Given the description of an element on the screen output the (x, y) to click on. 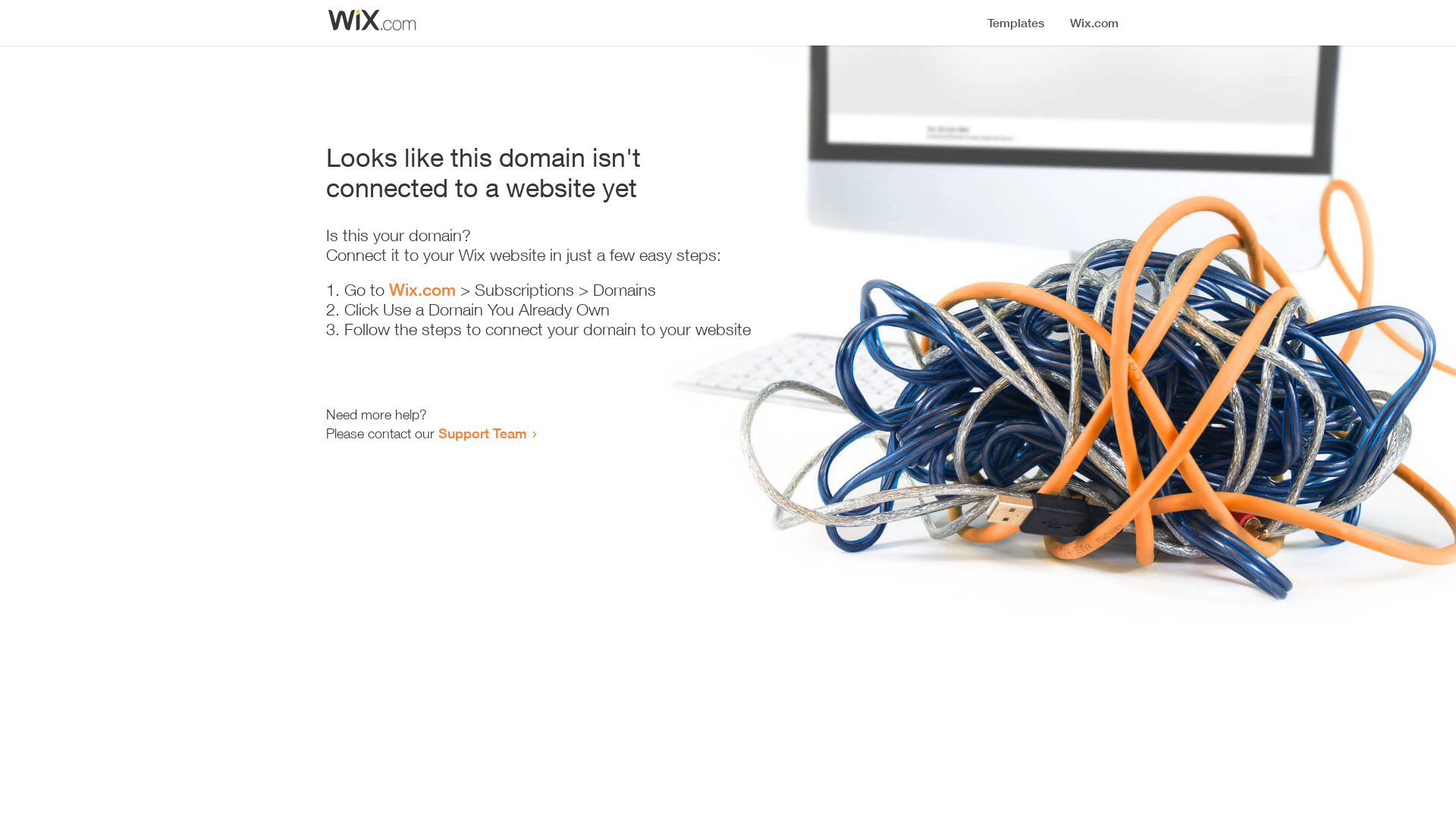
Wix.com Element type: text (422, 289)
Support Team Element type: text (482, 432)
